Given the description of an element on the screen output the (x, y) to click on. 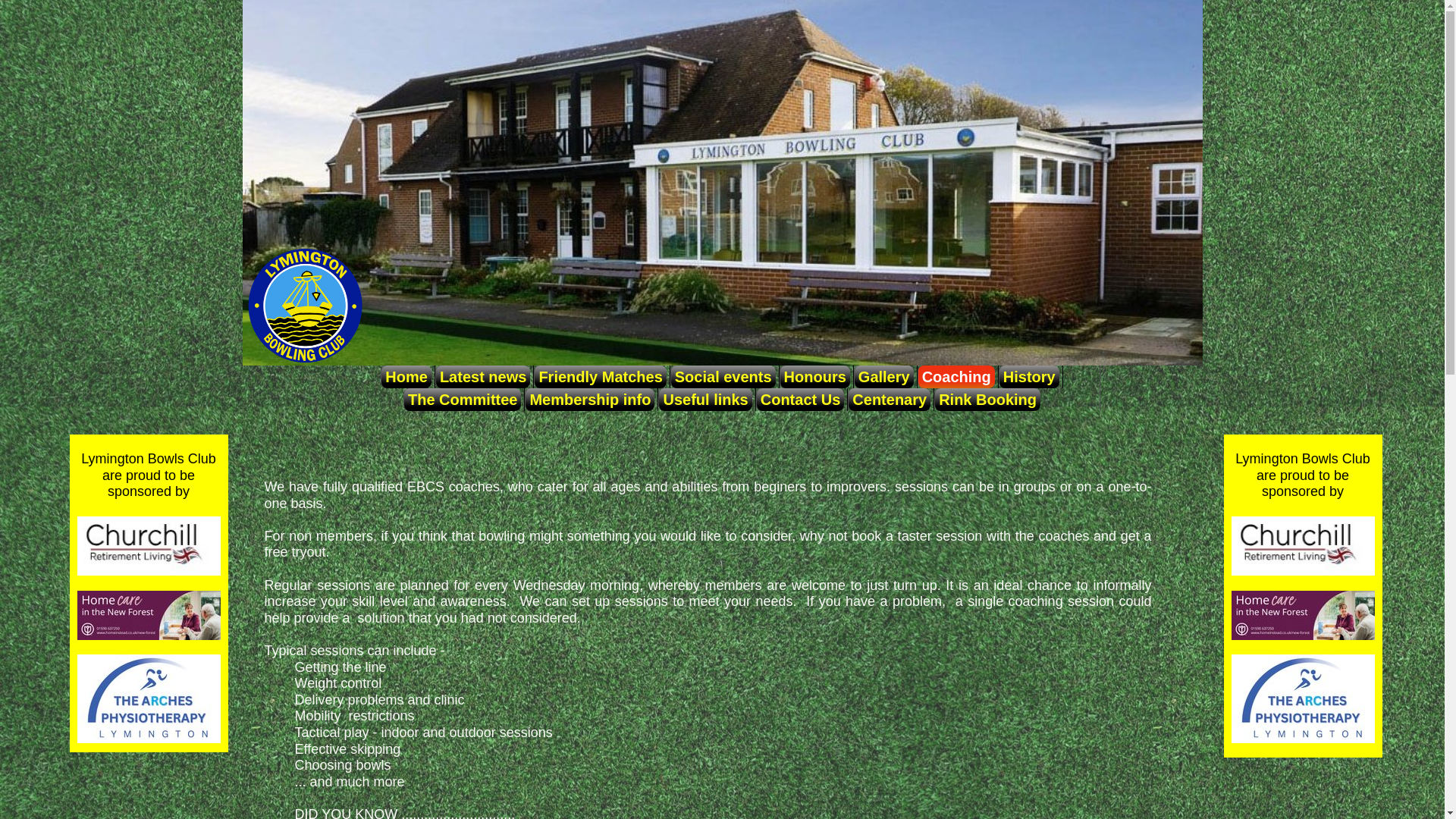
Home (405, 376)
Friendly Matches (599, 376)
Latest news (482, 376)
Membership info (588, 399)
Gallery (883, 376)
Centenary (888, 399)
Honours (814, 376)
Useful links (704, 399)
Contact Us (799, 399)
Coaching (955, 376)
